Given the description of an element on the screen output the (x, y) to click on. 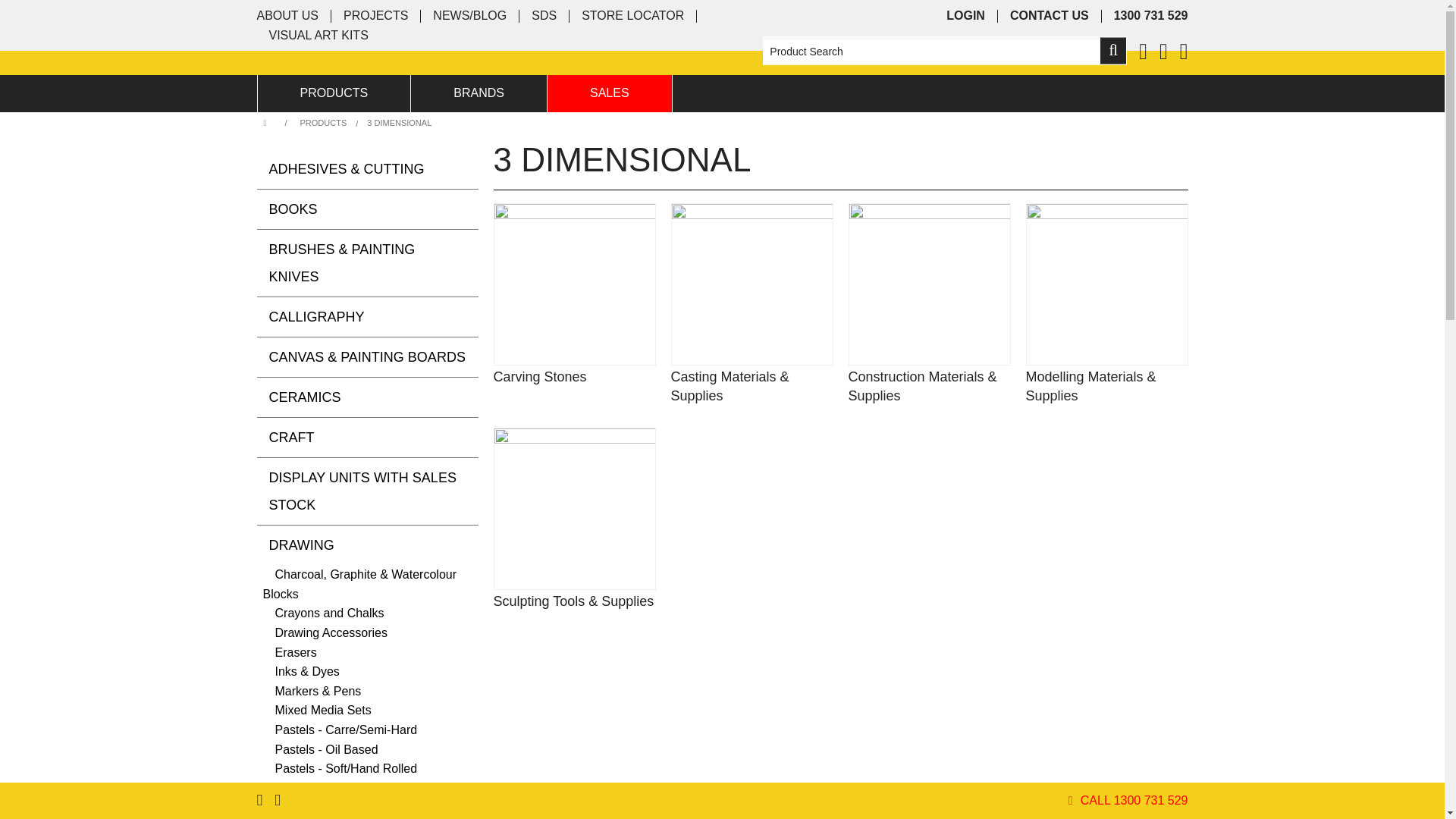
3 DIMENSIONAL Element type: text (399, 123)
ABOUT US Element type: text (287, 15)
CALLIGRAPHY Element type: text (366, 316)
BOOKS Element type: text (366, 209)
CERAMICS Element type: text (366, 397)
Pastels - Soft/Hand Rolled Element type: text (339, 768)
Modelling Materials & Supplies Element type: text (1106, 386)
Pencil Sharpeners Element type: text (317, 787)
Inks & Dyes Element type: text (300, 671)
SDS Element type: text (543, 15)
Crayons and Chalks Element type: text (322, 612)
Pastels - Carre/Semi-Hard Element type: text (339, 729)
1300 731 529 Element type: text (1150, 15)
Drawing Accessories Element type: text (324, 632)
PROJECTS Element type: text (375, 15)
Erasers Element type: text (289, 652)
LOGIN Element type: text (965, 15)
NEWS/BLOG Element type: text (469, 15)
Pastels - Oil Based Element type: text (319, 749)
PRODUCTS Element type: text (334, 93)
BRUSHES & PAINTING KNIVES Element type: text (366, 262)
Construction Materials & Supplies Element type: text (928, 386)
Glues and Tapes Element type: text (540, 355)
CONTACT US Element type: text (1049, 15)
BRANDS Element type: text (478, 93)
Casting Materials & Supplies Element type: text (751, 386)
DISPLAY UNITS WITH SALES STOCK Element type: text (366, 491)
SALES Element type: text (609, 93)
Sculpting Tools & Supplies Element type: text (573, 601)
Guillotines, Mat Cutters & Trimmers Element type: text (540, 364)
Display Units with Sales Stock Element type: text (352, 364)
CANVAS & PAINTING BOARDS Element type: text (366, 356)
Markers & Pens Element type: text (311, 690)
ADHESIVES & CUTTING Element type: text (366, 168)
Charcoal, Graphite & Watercolour Blocks Element type: text (359, 583)
CALL 1300 731 529 Element type: text (1134, 800)
CRAFT Element type: text (366, 437)
PRODUCTS Element type: text (333, 123)
DRAWING Element type: text (366, 544)
VISUAL ART KITS Element type: text (317, 35)
Carving Stones Element type: text (573, 376)
STORE LOCATOR Element type: text (632, 15)
Mixed Media Sets Element type: text (316, 709)
Adhesives & Cutting Element type: text (352, 355)
